Given the description of an element on the screen output the (x, y) to click on. 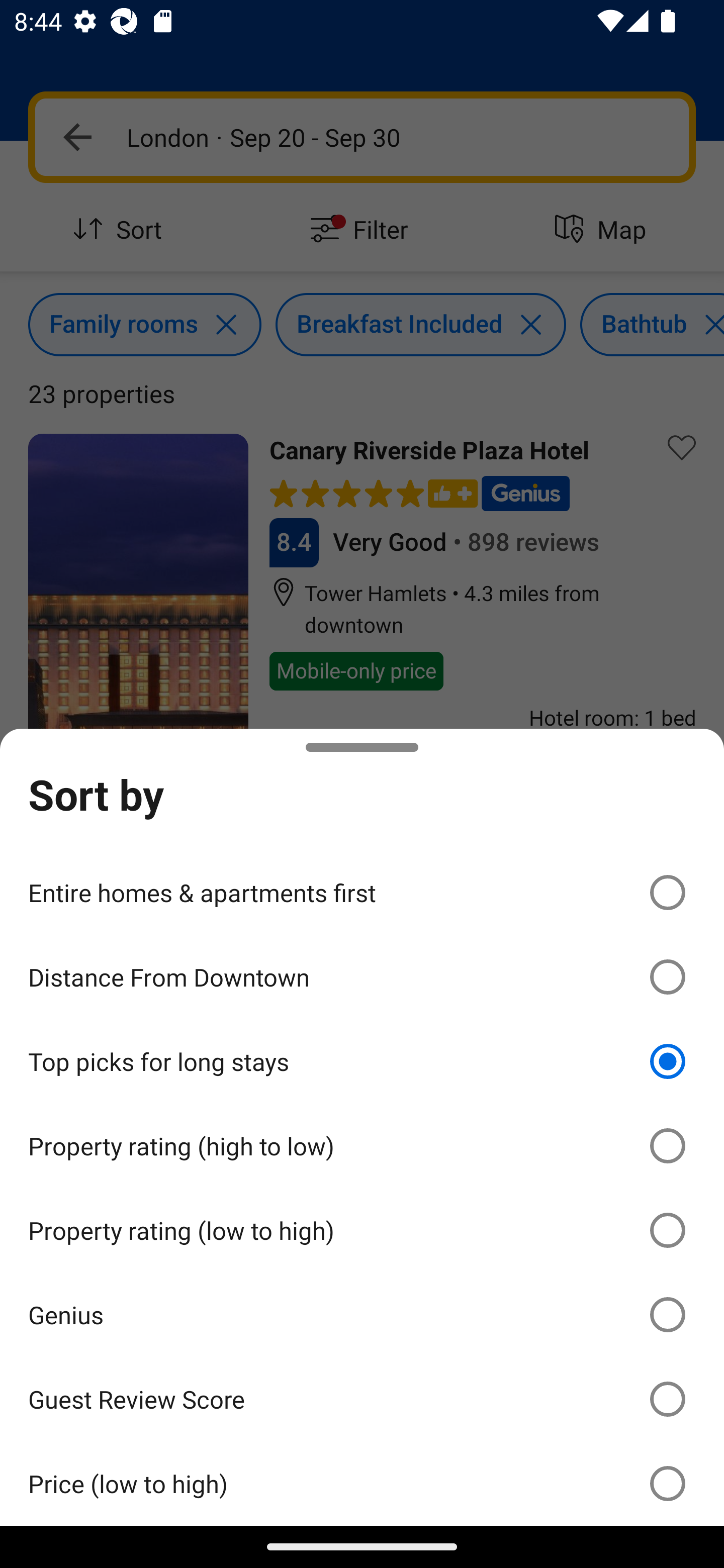
Entire homes & apartments first (362, 891)
Distance From Downtown (362, 976)
Top picks for long stays (362, 1061)
Property rating (high to low) (362, 1145)
Property rating (low to high) (362, 1230)
Genius (362, 1314)
Guest Review Score (362, 1398)
Price (low to high) (362, 1482)
